Given the description of an element on the screen output the (x, y) to click on. 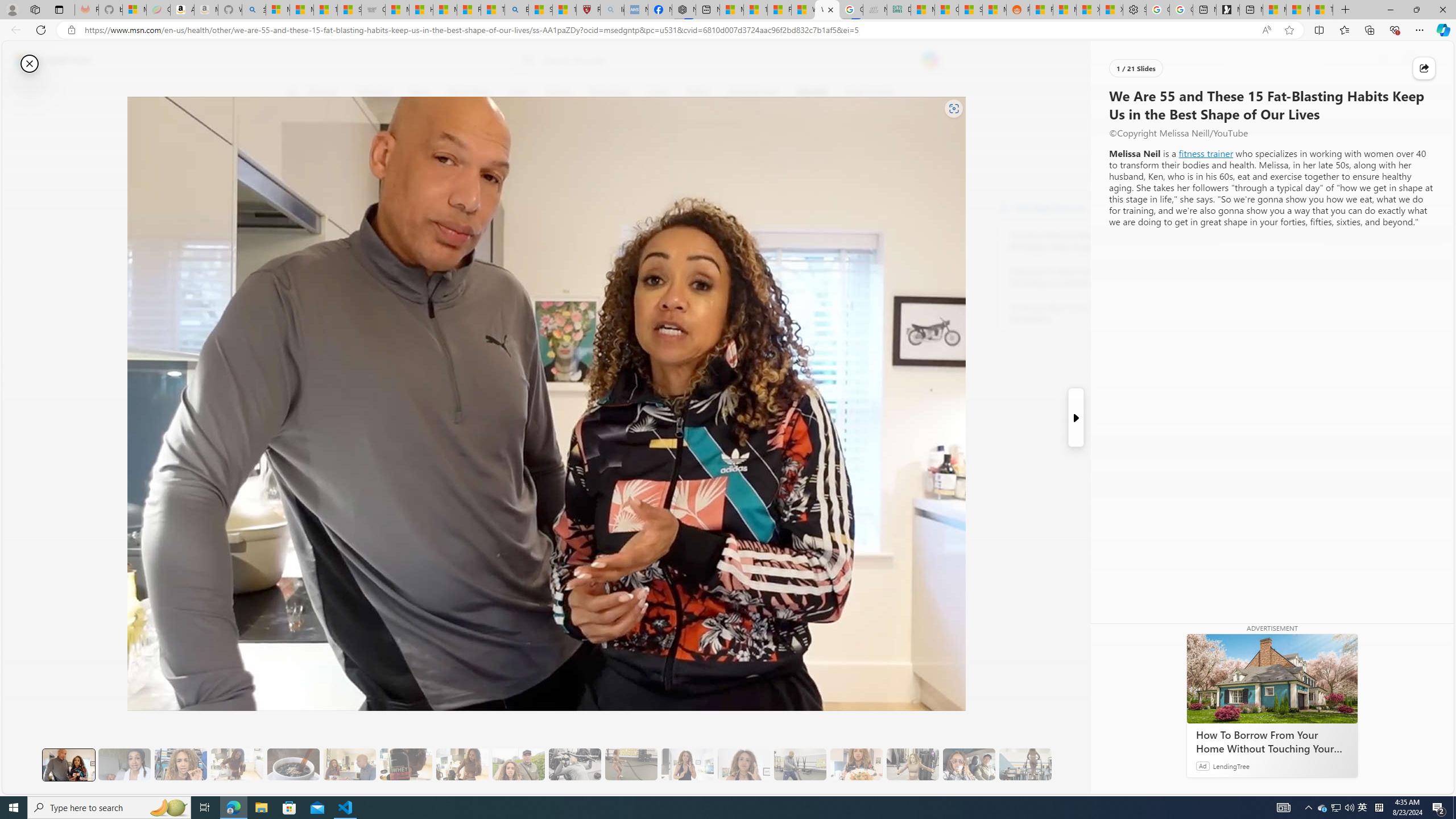
7 They Don't Skip Meals (462, 764)
How To Borrow From Your Home Without Touching Your Mortgage (1271, 678)
LendingTree (1231, 765)
Personalize (1132, 92)
Politics (697, 92)
Enter your search term (730, 59)
World News (468, 92)
8 They Walk to the Gym (518, 764)
3 They Drink Lemon Tea (237, 764)
